Given the description of an element on the screen output the (x, y) to click on. 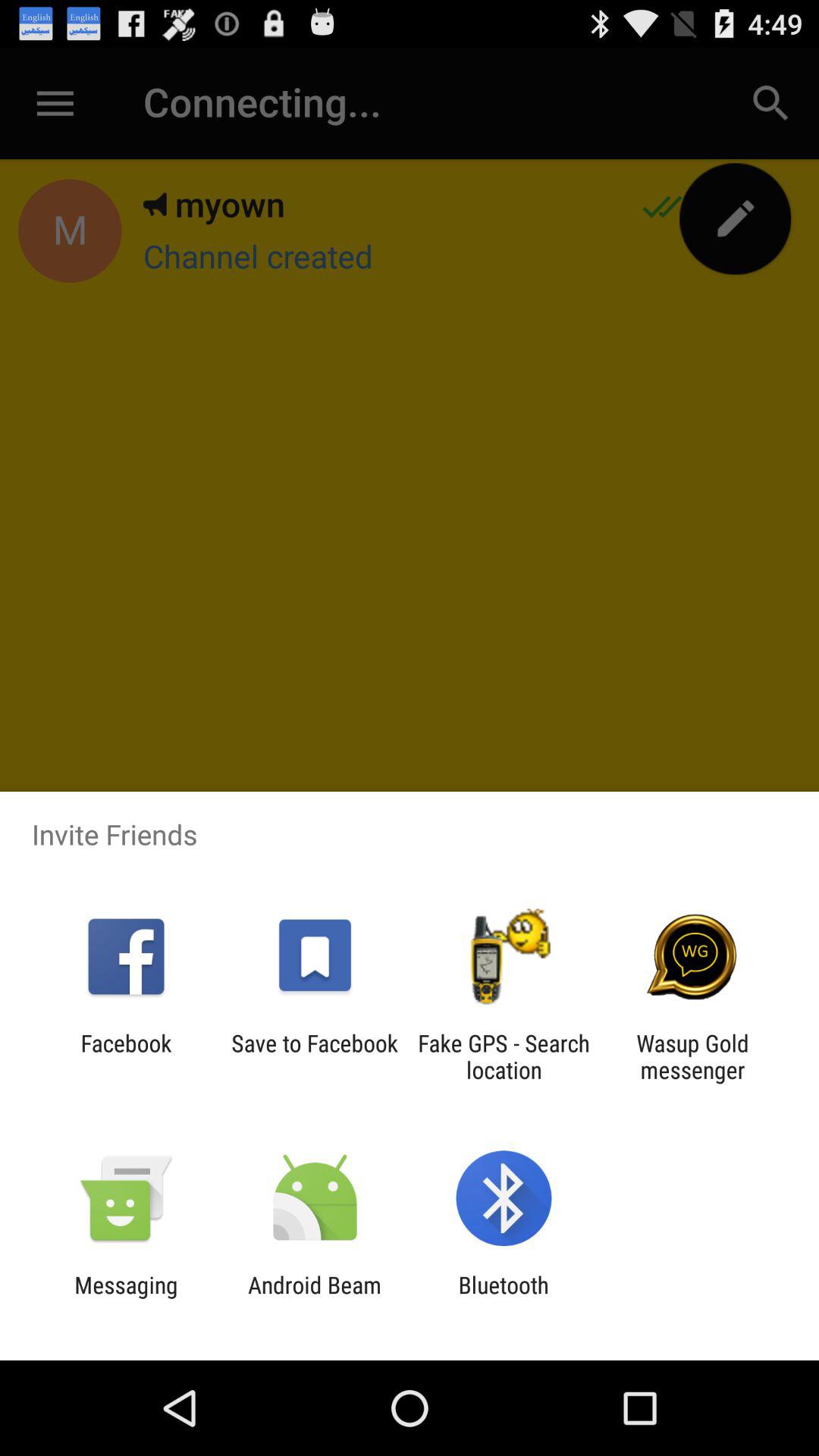
turn off the icon next to the android beam app (126, 1298)
